Given the description of an element on the screen output the (x, y) to click on. 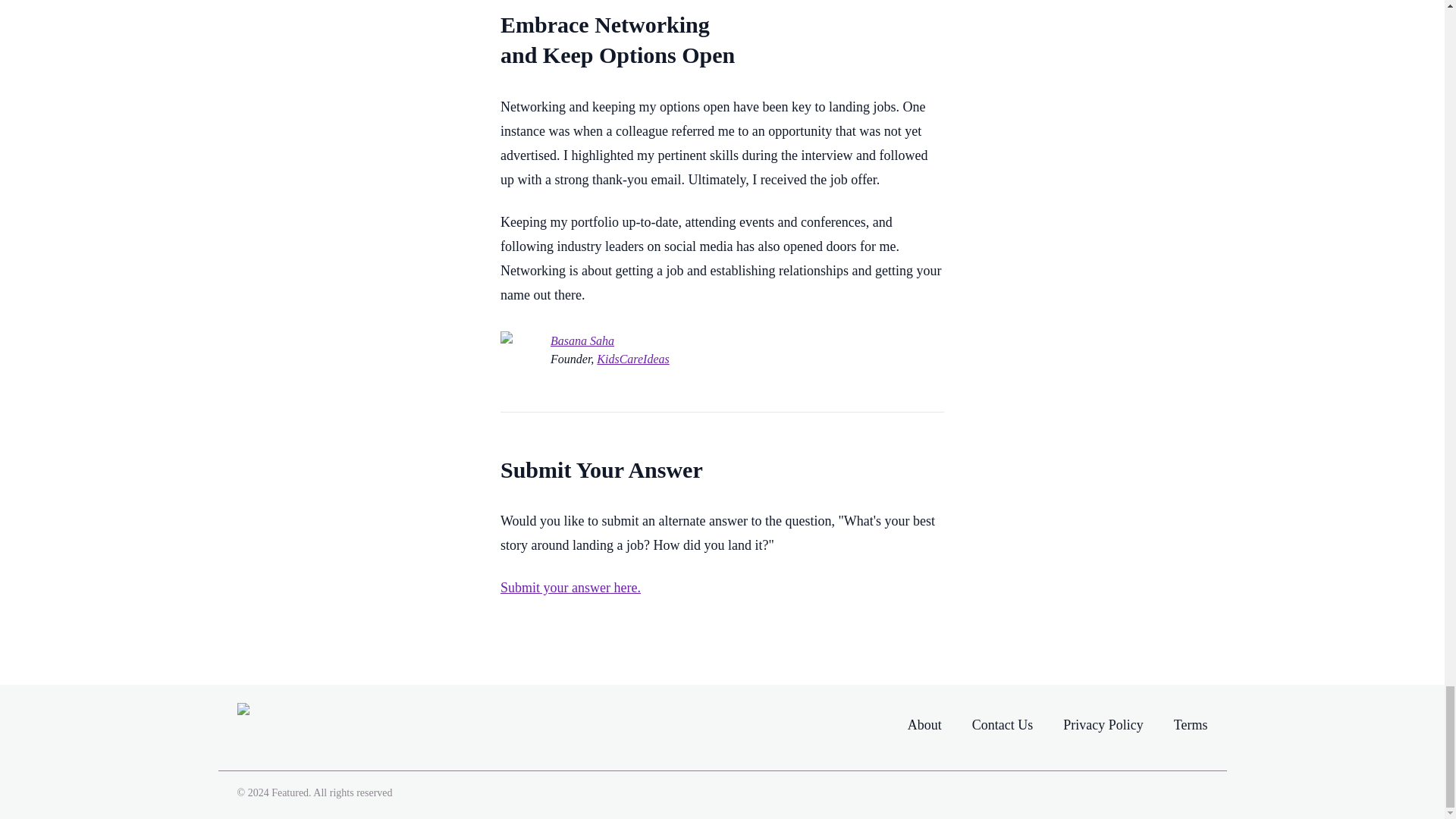
About (924, 724)
Privacy Policy (1102, 725)
Submit your answer here. (570, 587)
Terms (1190, 725)
Contact Us (1002, 725)
KidsCareIdeas (632, 359)
Basana Saha (582, 341)
